Given the description of an element on the screen output the (x, y) to click on. 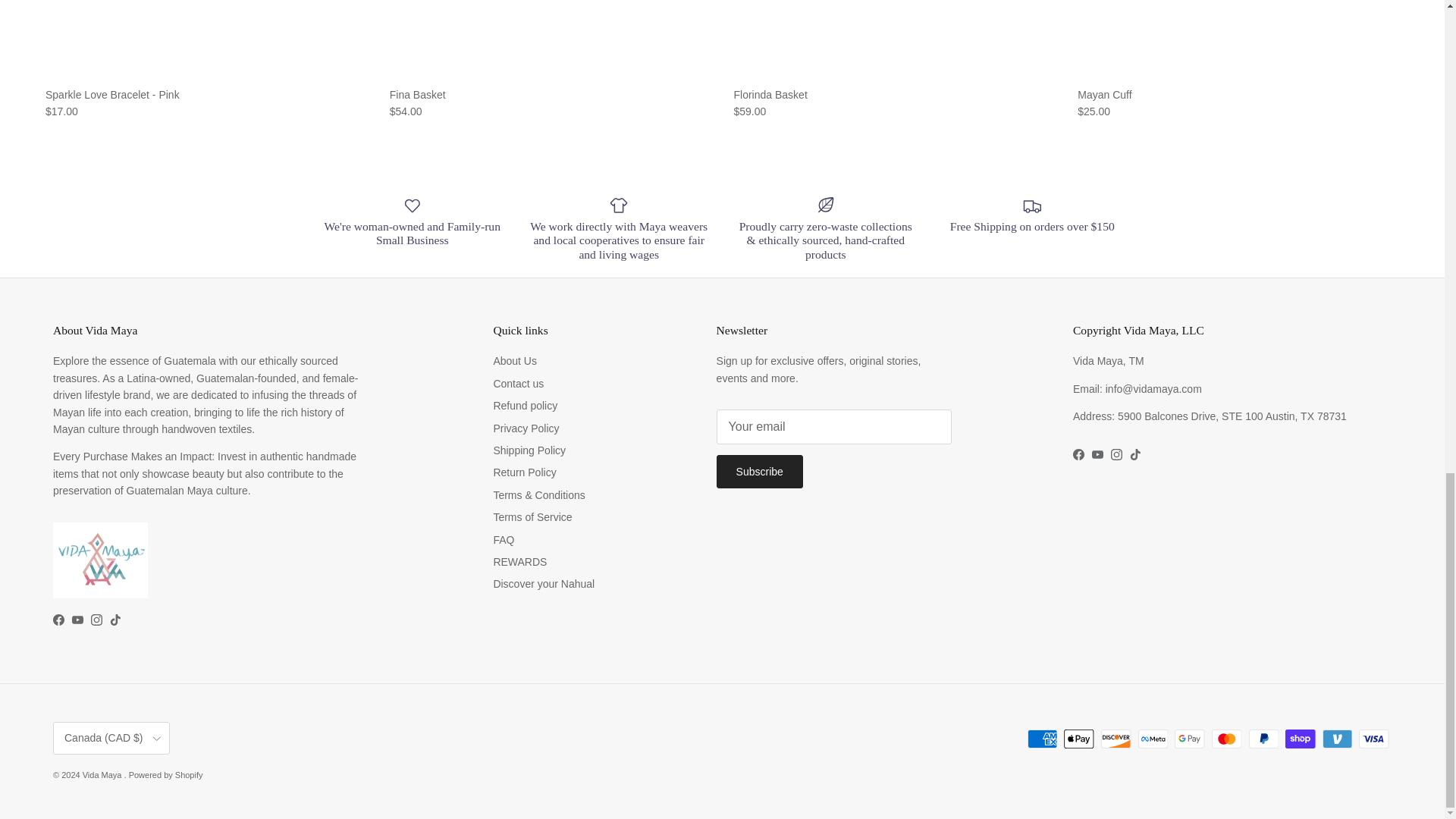
Vida Maya  on Instagram (1116, 454)
Vida Maya  on Facebook (1078, 454)
Vida Maya  on TikTok (115, 619)
Vida Maya  on Instagram (95, 619)
Vida Maya  on TikTok (1135, 454)
Vida Maya  on Facebook (58, 619)
Vida Maya  on YouTube (1097, 454)
Vida Maya  on YouTube (76, 619)
